Given the description of an element on the screen output the (x, y) to click on. 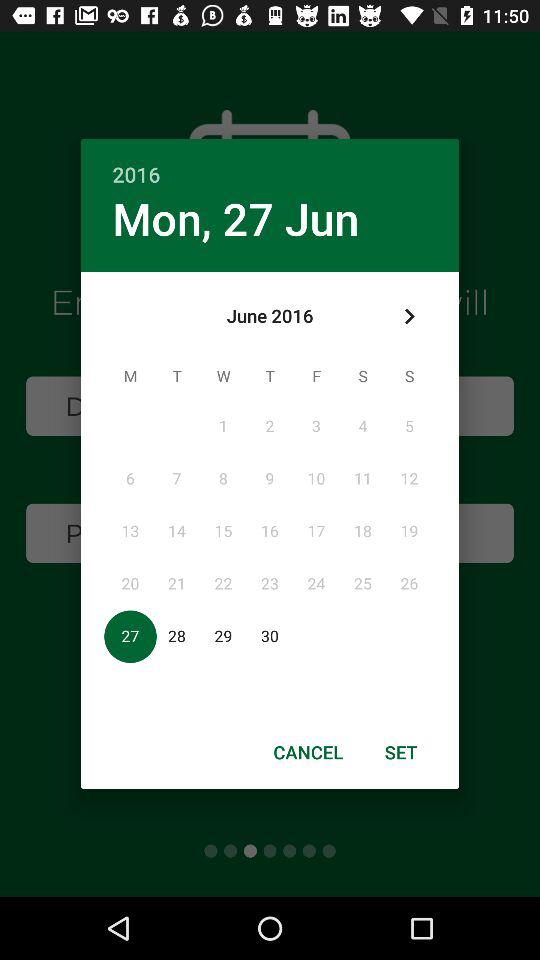
open icon above set item (408, 316)
